Given the description of an element on the screen output the (x, y) to click on. 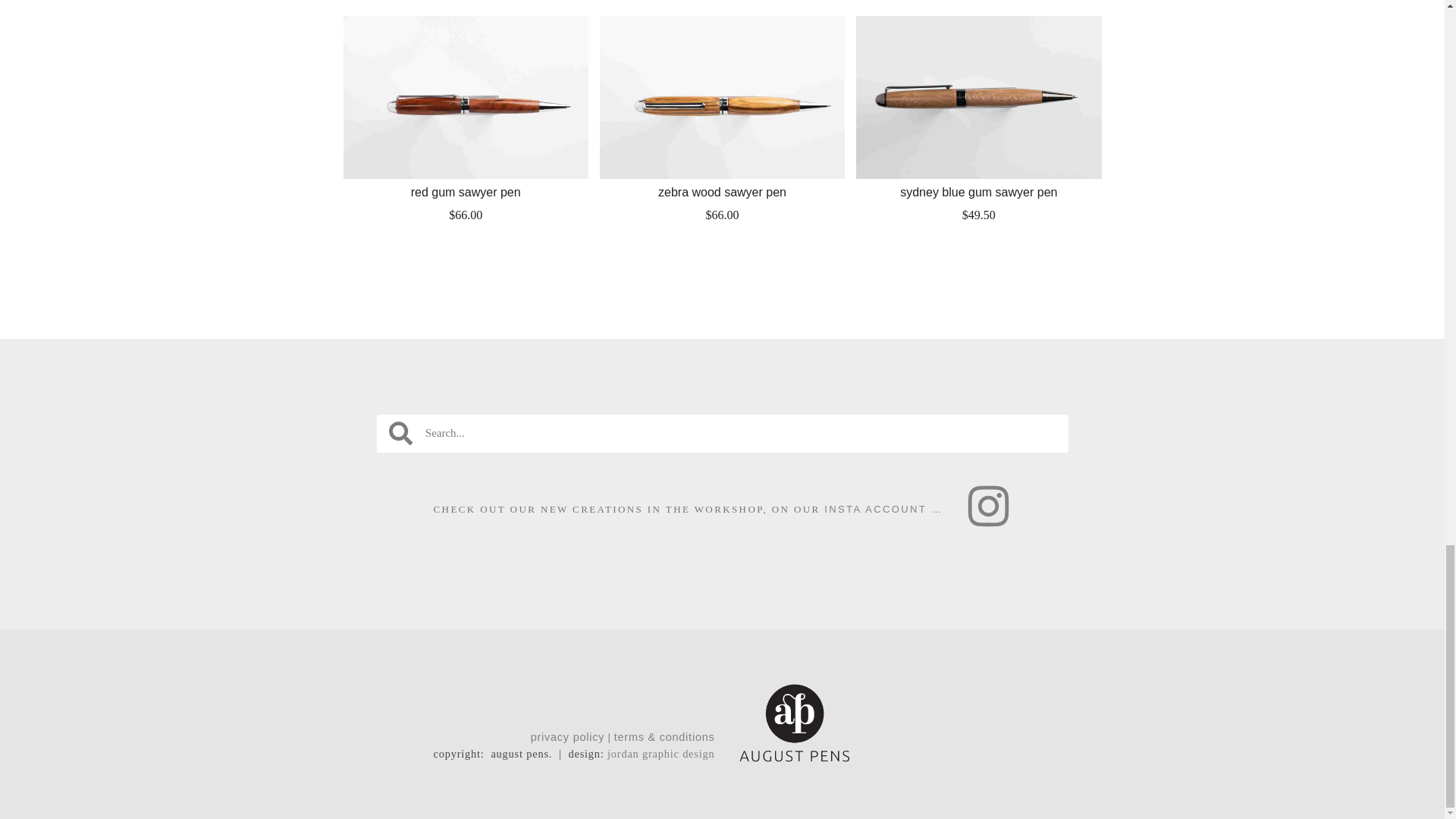
jordan graphic design (660, 753)
ADD TO CART (721, 247)
privacy policy (568, 736)
ADD TO CART (465, 247)
ADD TO CART (978, 247)
